Given the description of an element on the screen output the (x, y) to click on. 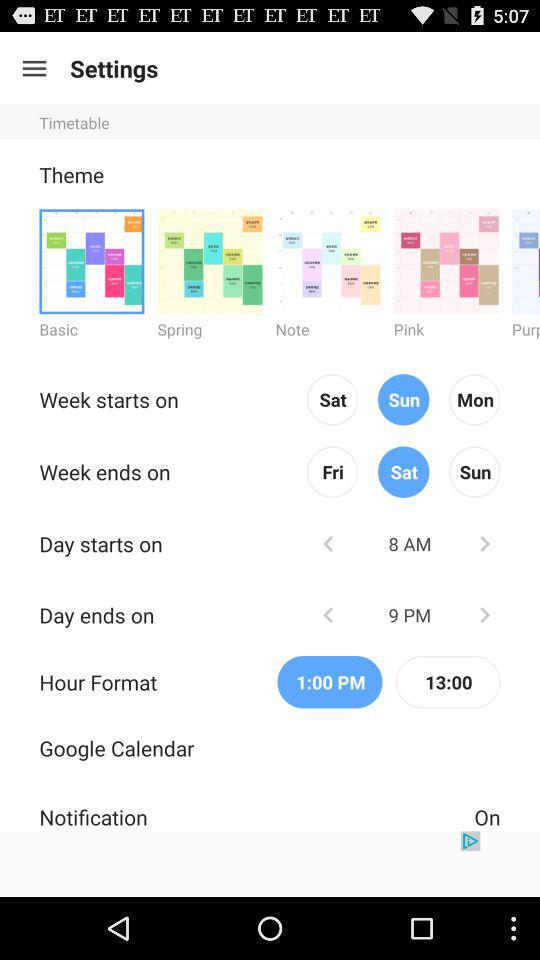
go to previous (328, 614)
